Given the description of an element on the screen output the (x, y) to click on. 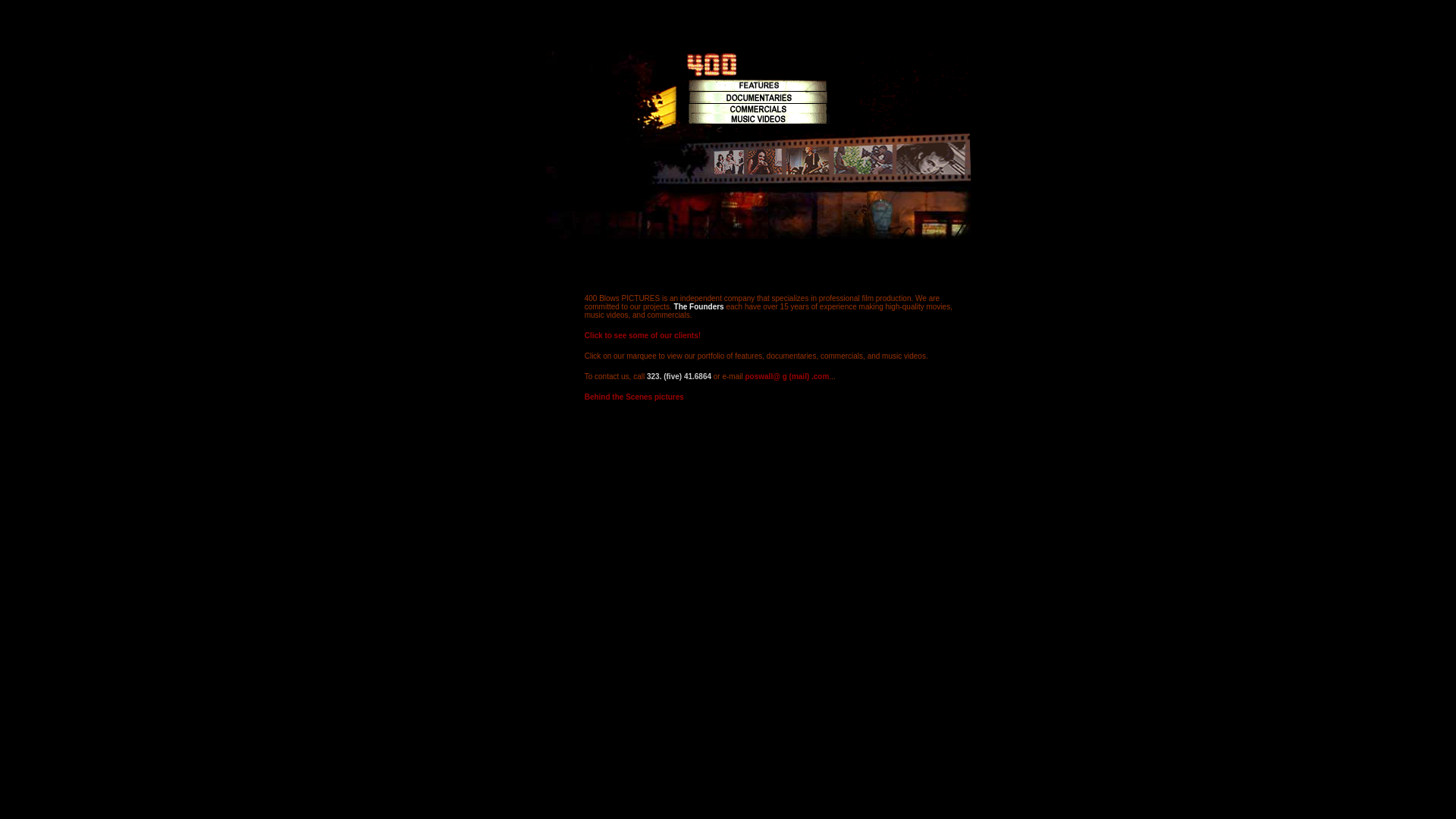
Behind the Scenes pictures Element type: text (634, 396)
The Founders Element type: text (700, 306)
poswall@ g (mail) .com Element type: text (786, 376)
Click to see some of our clients! Element type: text (642, 335)
